Given the description of an element on the screen output the (x, y) to click on. 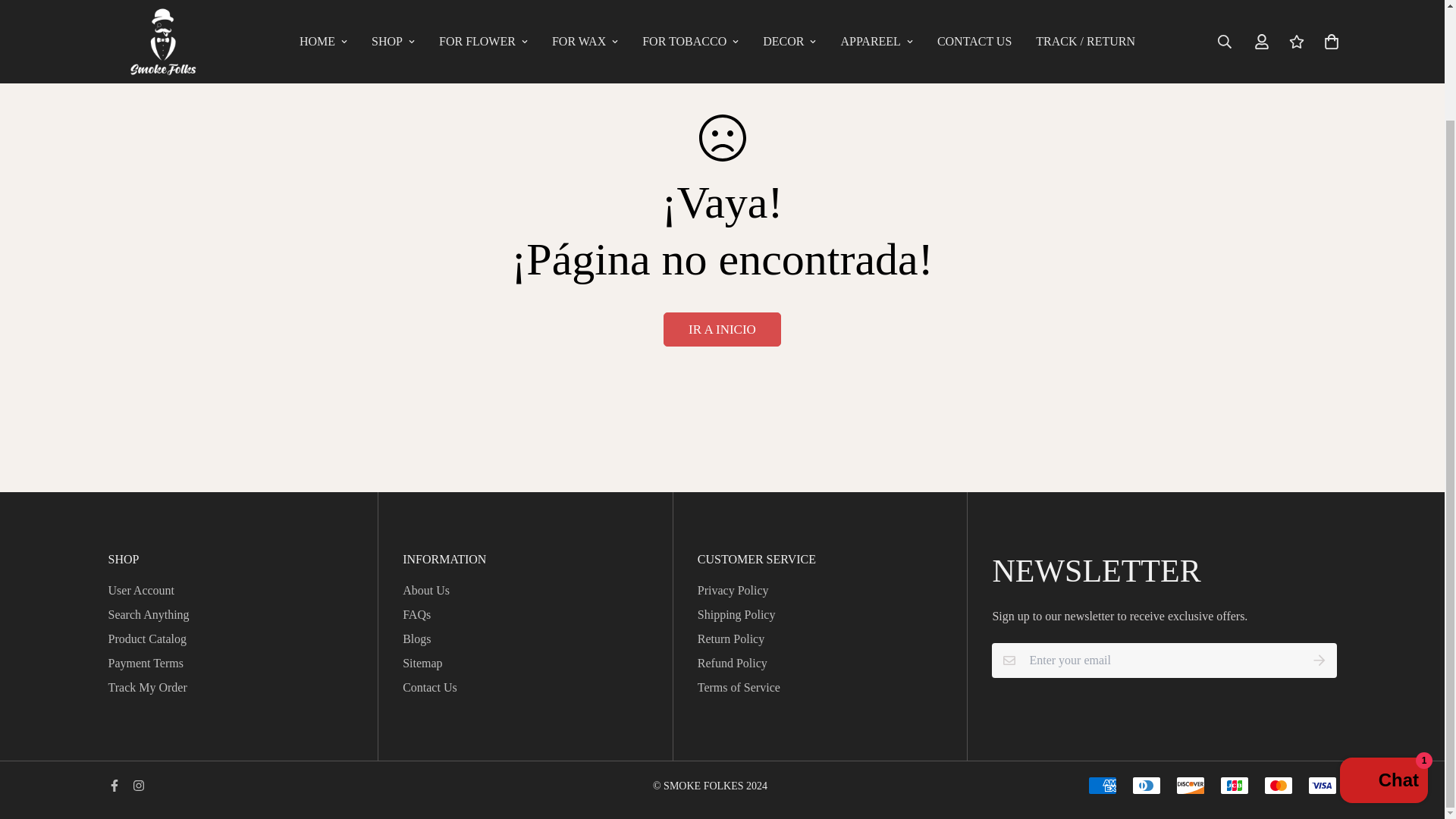
Chat de la tienda online Shopify (1383, 652)
